Given the description of an element on the screen output the (x, y) to click on. 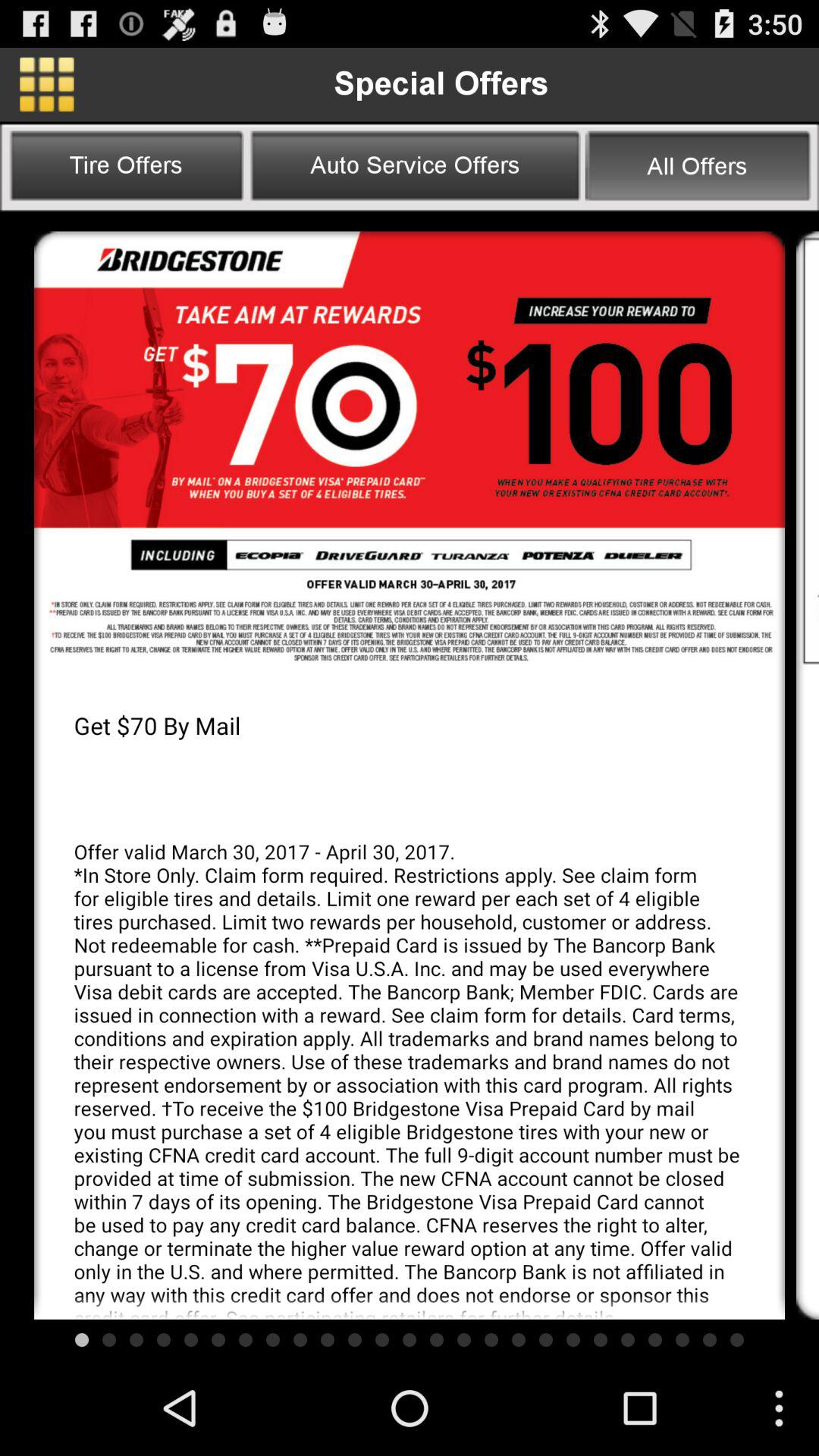
scroll down slider (807, 450)
